Given the description of an element on the screen output the (x, y) to click on. 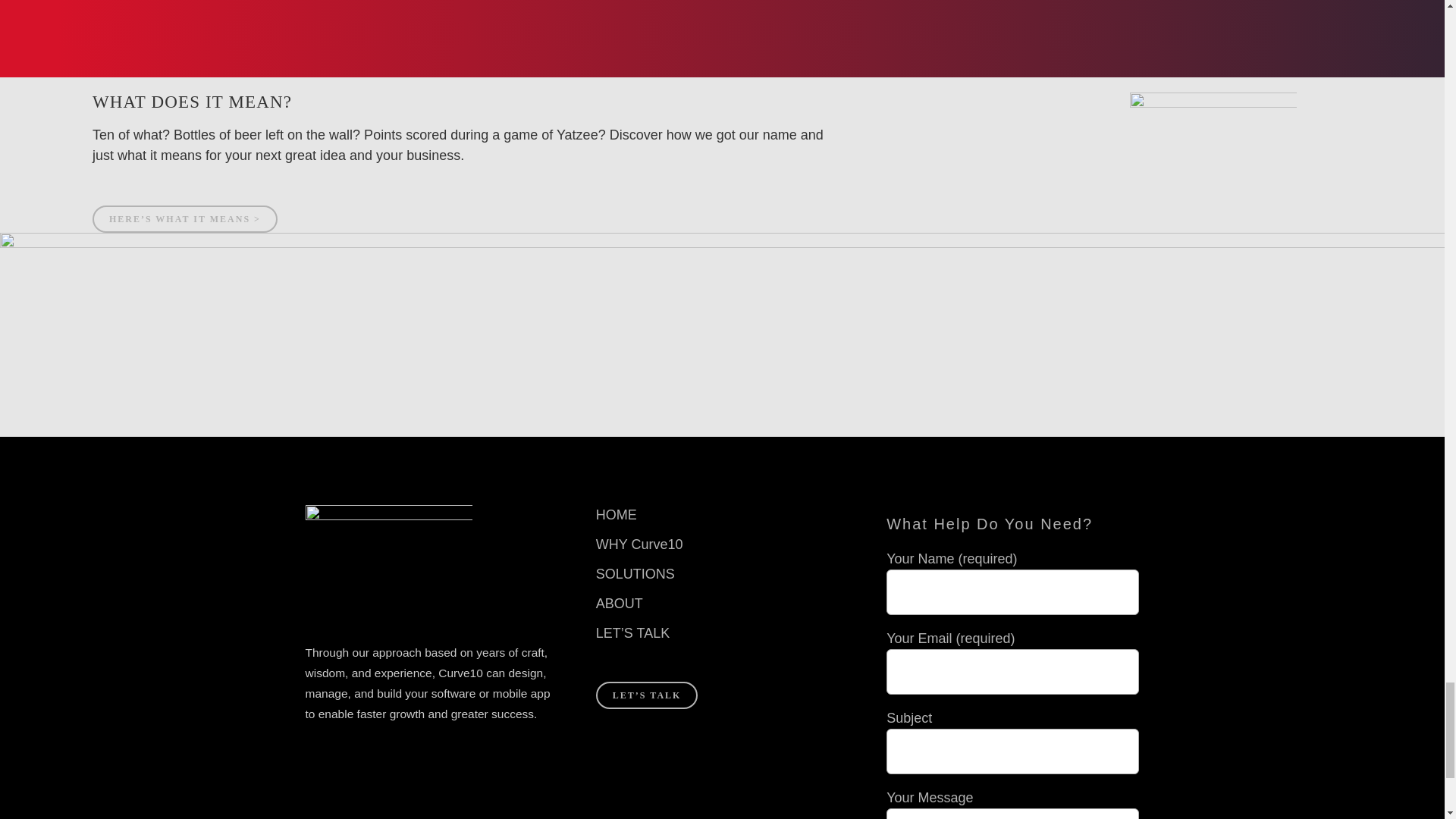
SOLUTIONS (721, 574)
WHY Curve10 (721, 544)
ABOUT (721, 603)
HOME (721, 515)
